Given the description of an element on the screen output the (x, y) to click on. 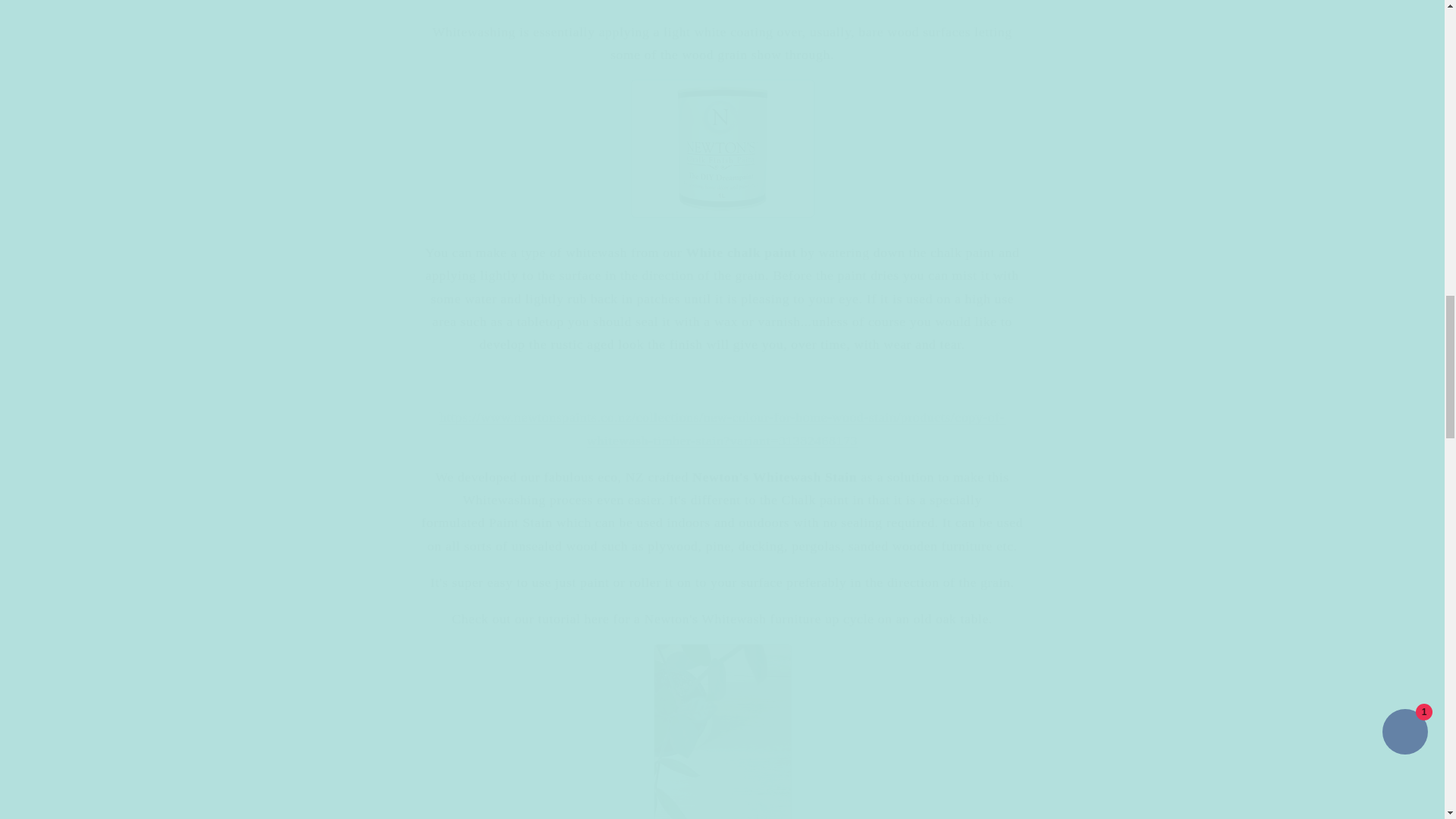
Buy Whitewash Stain (721, 428)
